Given the description of an element on the screen output the (x, y) to click on. 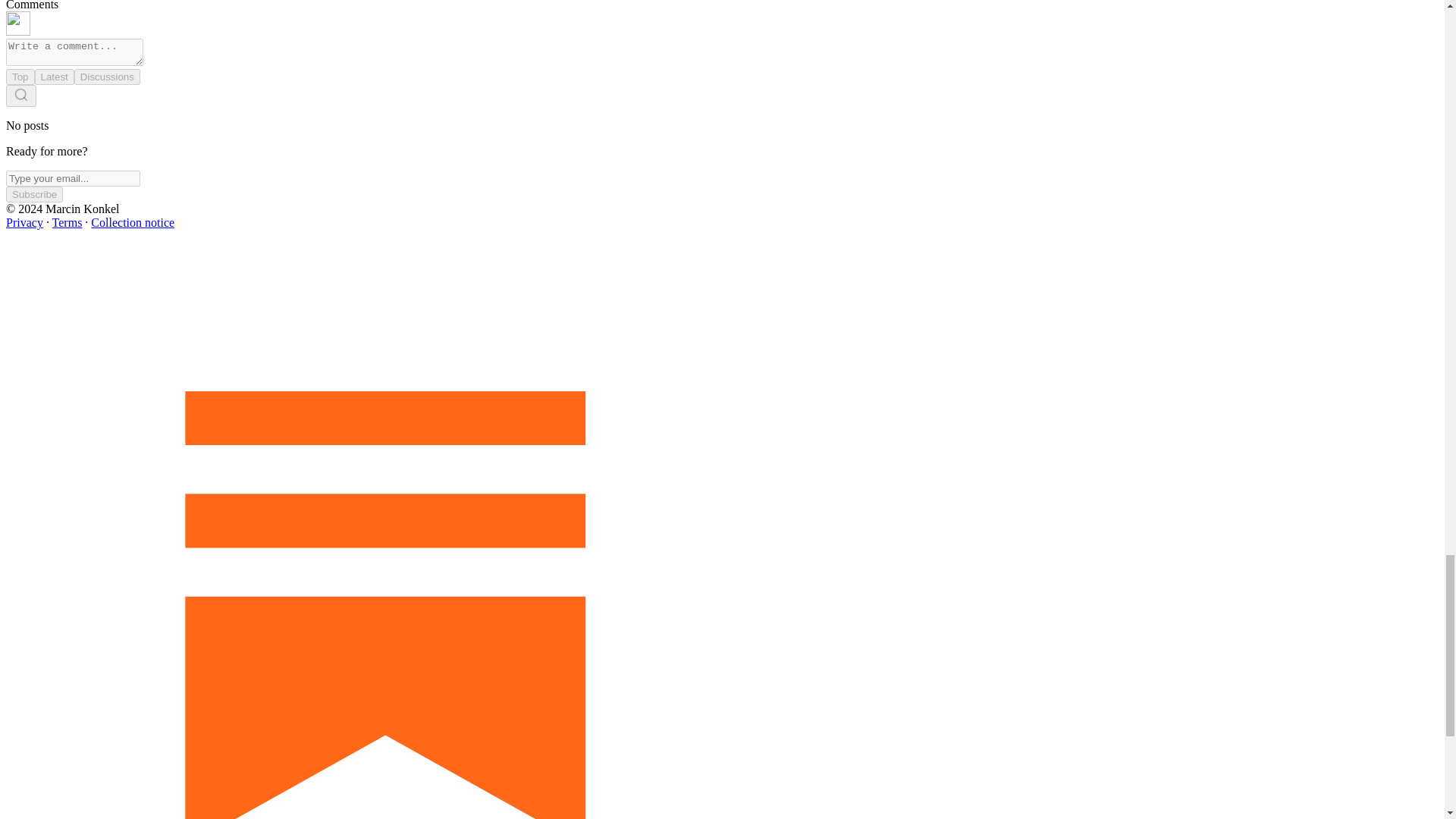
Top (19, 76)
Discussions (106, 76)
Latest (54, 76)
